Given the description of an element on the screen output the (x, y) to click on. 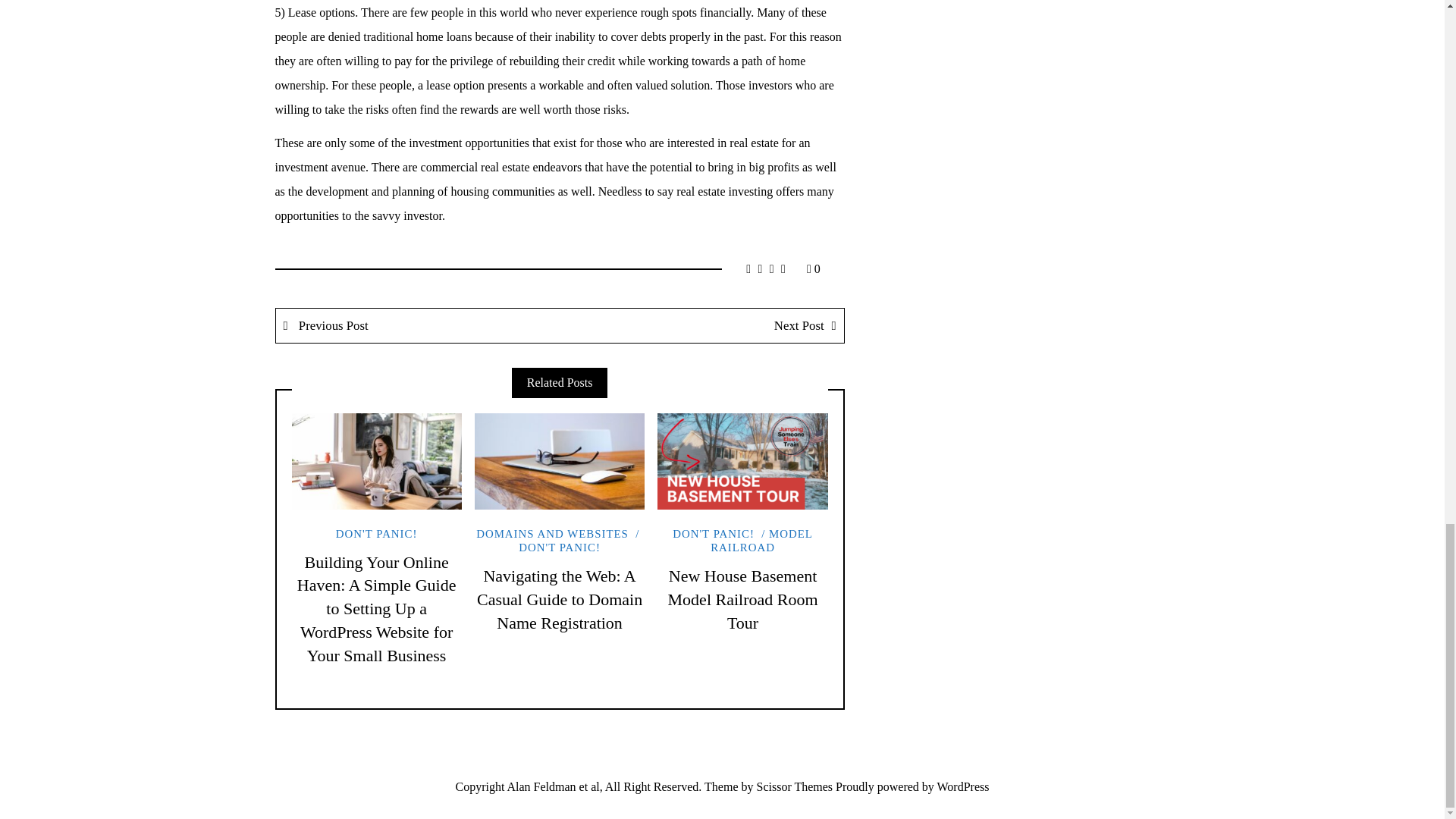
DON'T PANIC! (376, 533)
DOMAINS AND WEBSITES (552, 533)
DON'T PANIC! (580, 540)
DON'T PANIC! (713, 533)
Next Post (701, 325)
New House Basement Model Railroad Room Tour (743, 599)
